Given the description of an element on the screen output the (x, y) to click on. 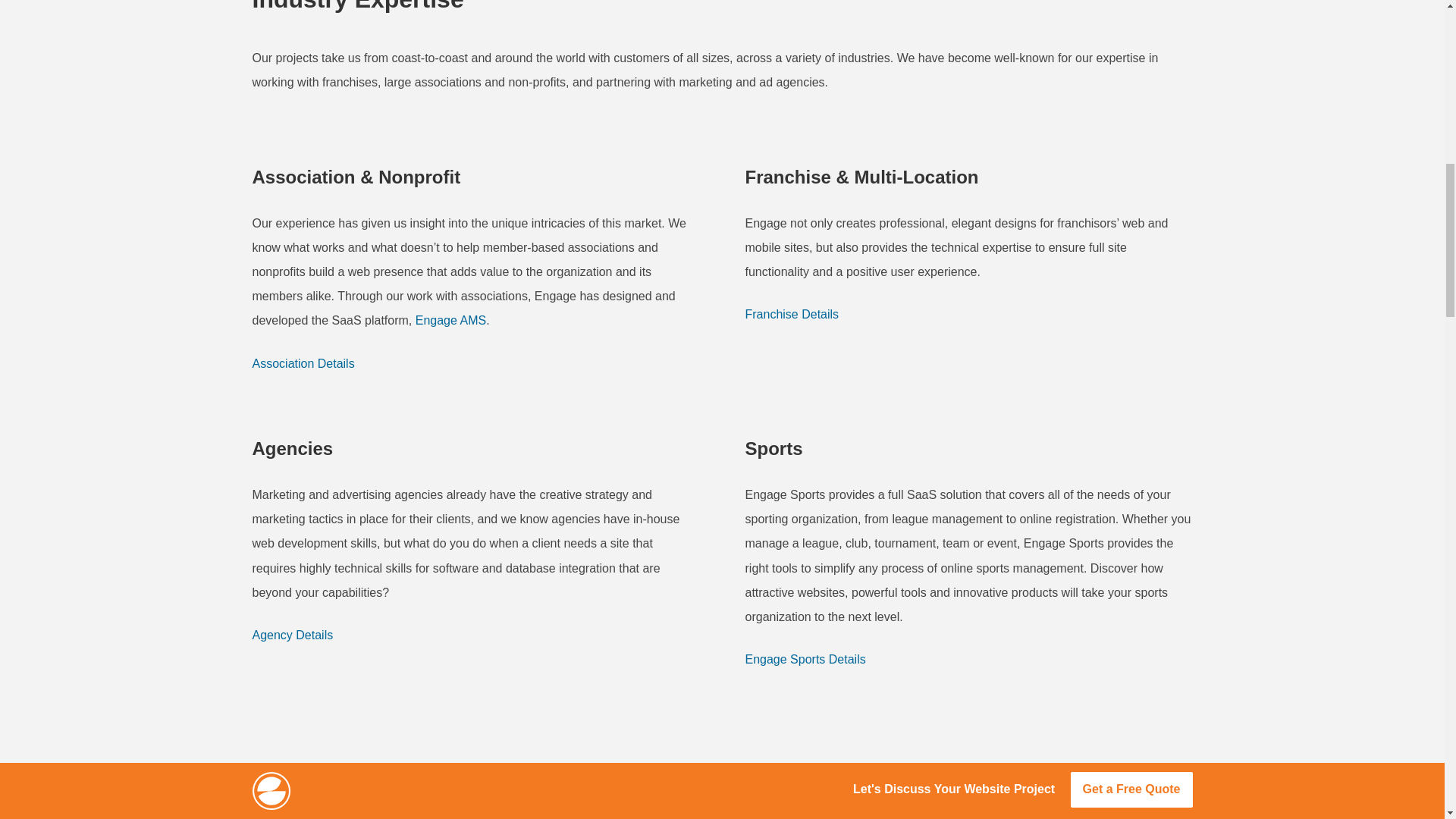
Agency Details (292, 635)
Franchise Details (791, 314)
Engage AMS (450, 319)
Association Details (302, 363)
Engage Sports Details (804, 659)
